Given the description of an element on the screen output the (x, y) to click on. 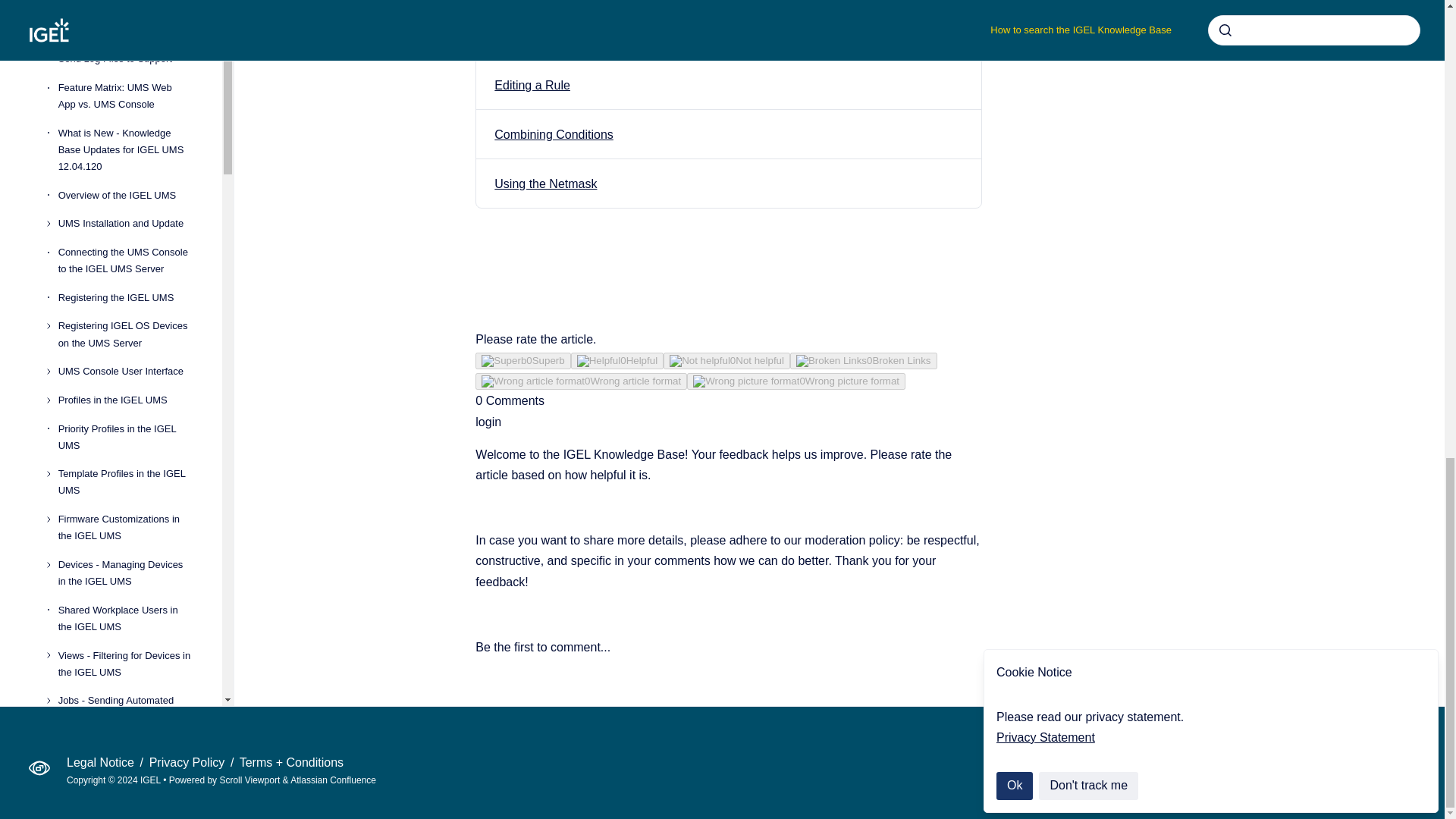
Editing a Rule (532, 84)
Combining Conditions (553, 133)
Using the Netmask (545, 183)
How to Apply Default Directory Rules (594, 35)
